Given the description of an element on the screen output the (x, y) to click on. 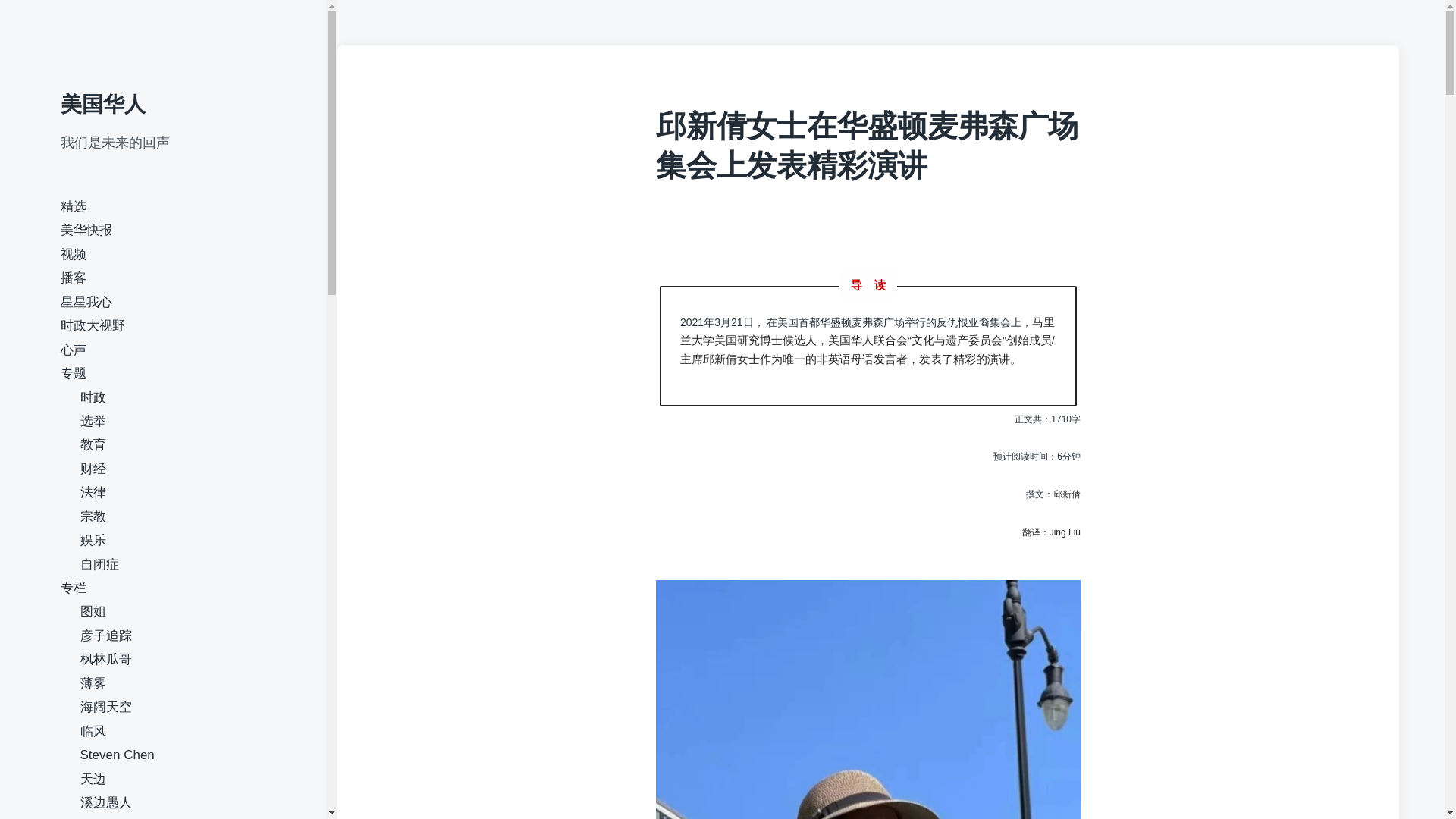
Steven Chen (117, 754)
